Given the description of an element on the screen output the (x, y) to click on. 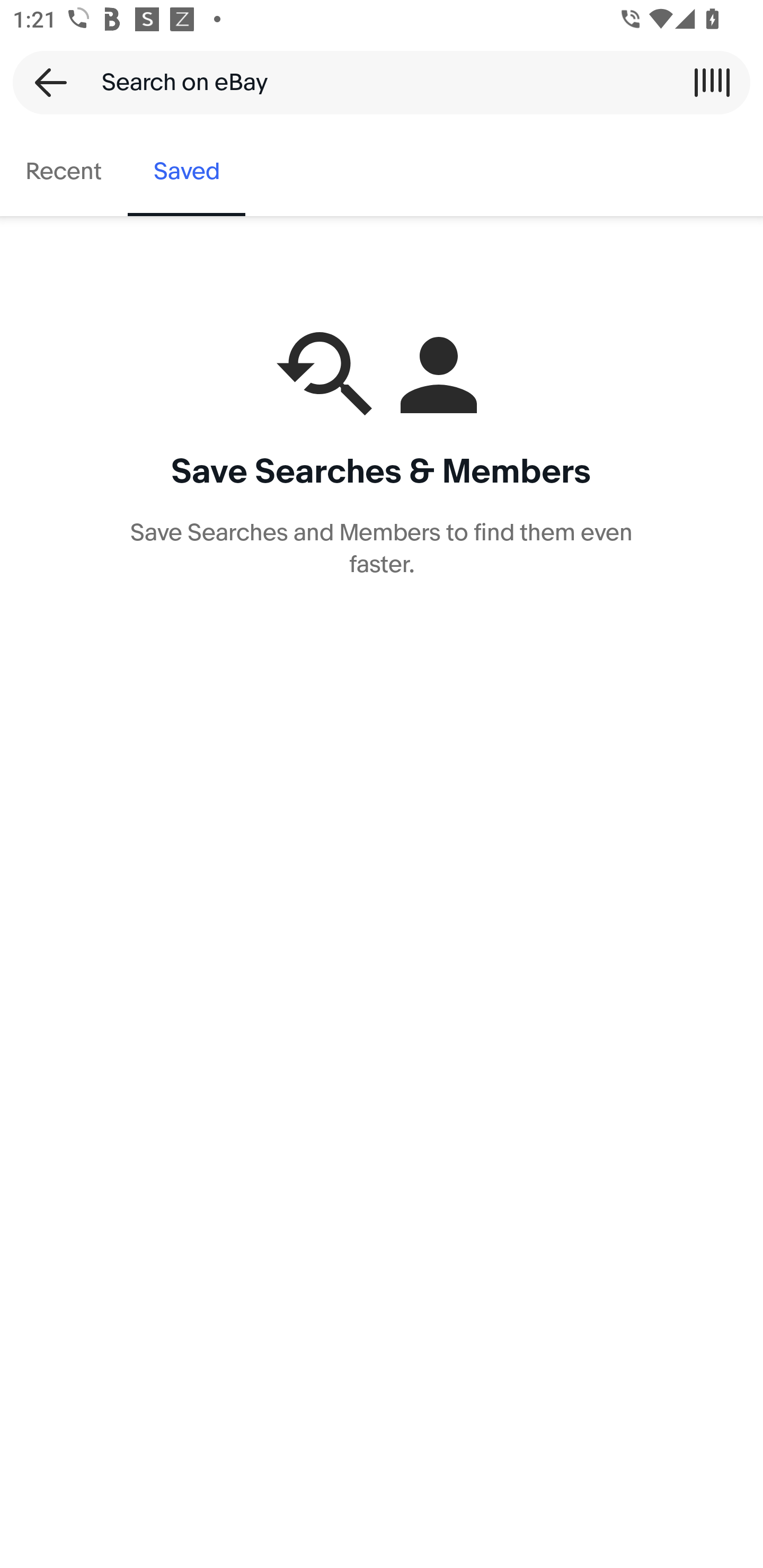
Back (44, 82)
Scan a barcode (711, 82)
Search on eBay (375, 82)
Recent, tab 1 of 2 Recent (63, 171)
